Given the description of an element on the screen output the (x, y) to click on. 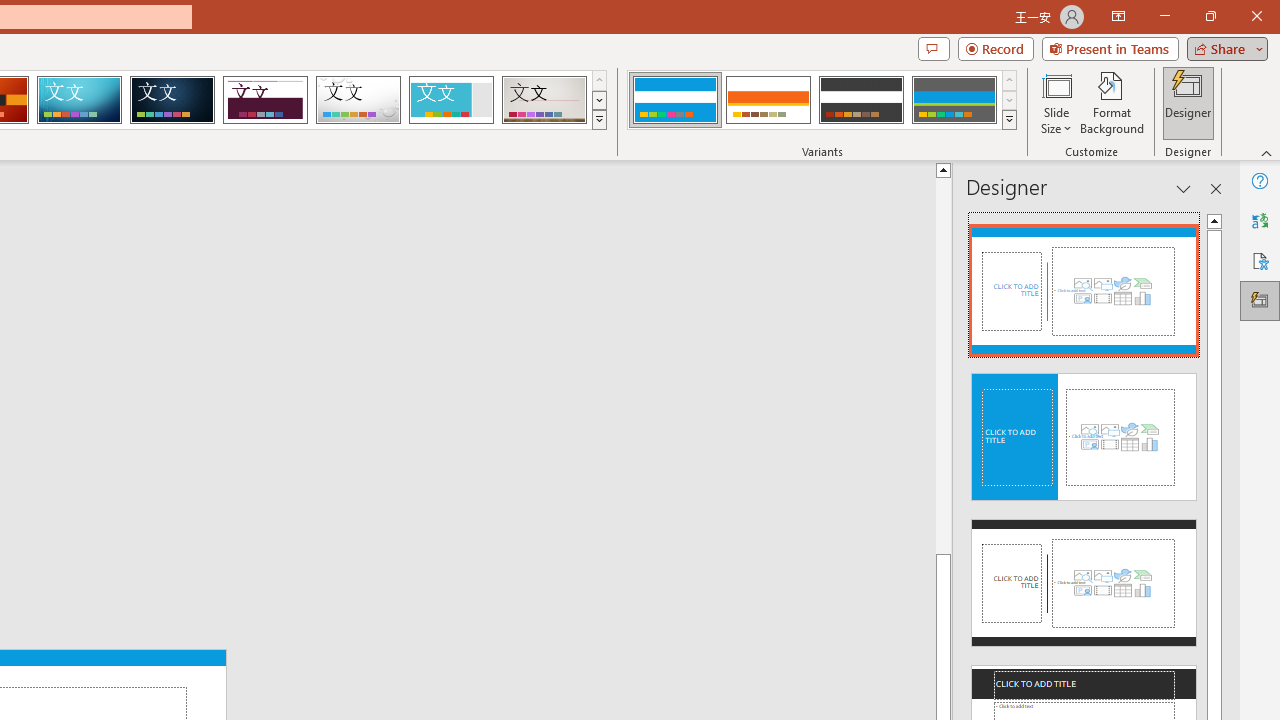
Frame (450, 100)
Banded Variant 4 (953, 100)
Damask (171, 100)
